Given the description of an element on the screen output the (x, y) to click on. 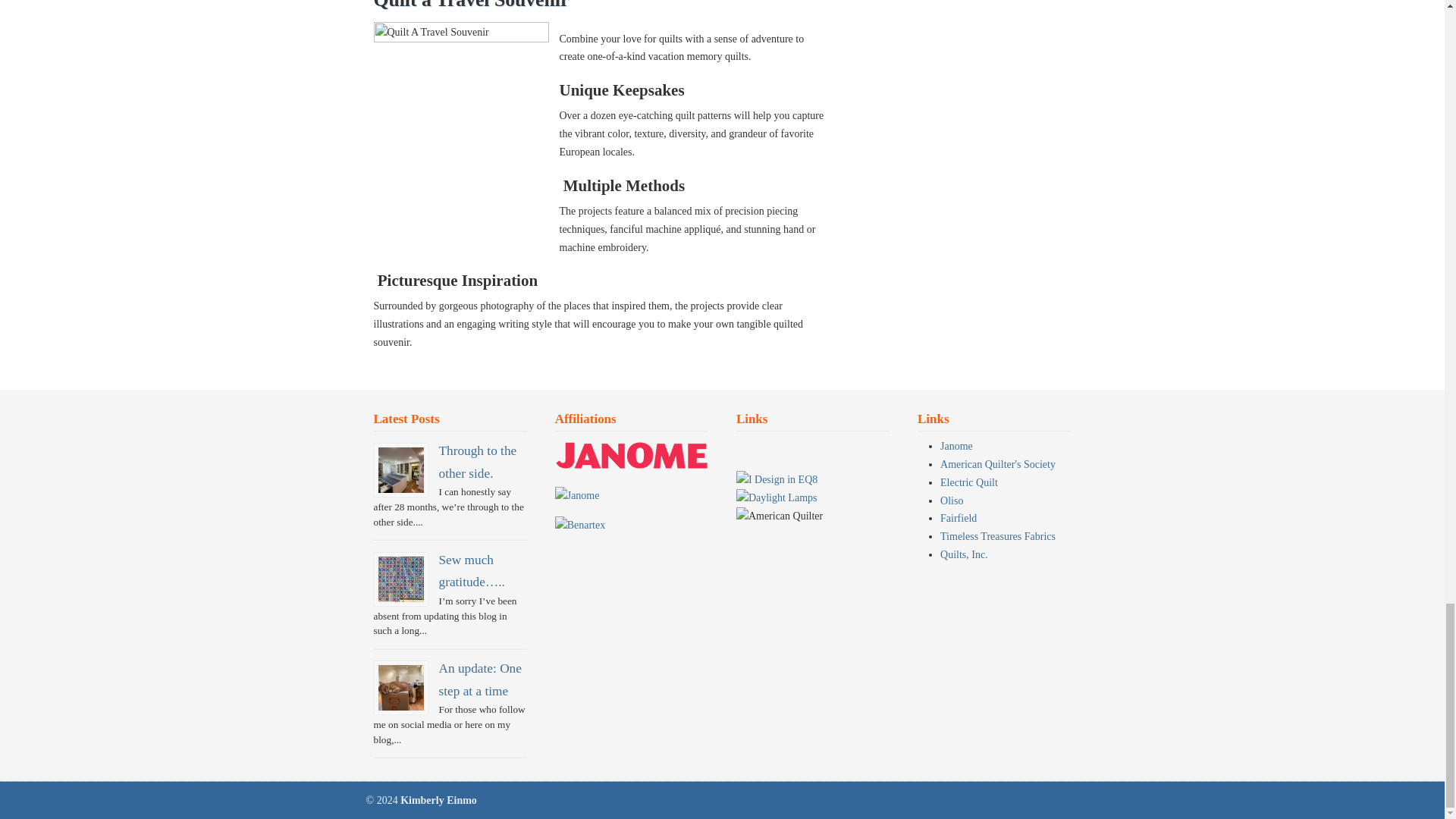
Through to the other side. (477, 461)
An update: One step at a time (479, 678)
Through to the other side. (400, 470)
Through to the other side. (477, 461)
